Given the description of an element on the screen output the (x, y) to click on. 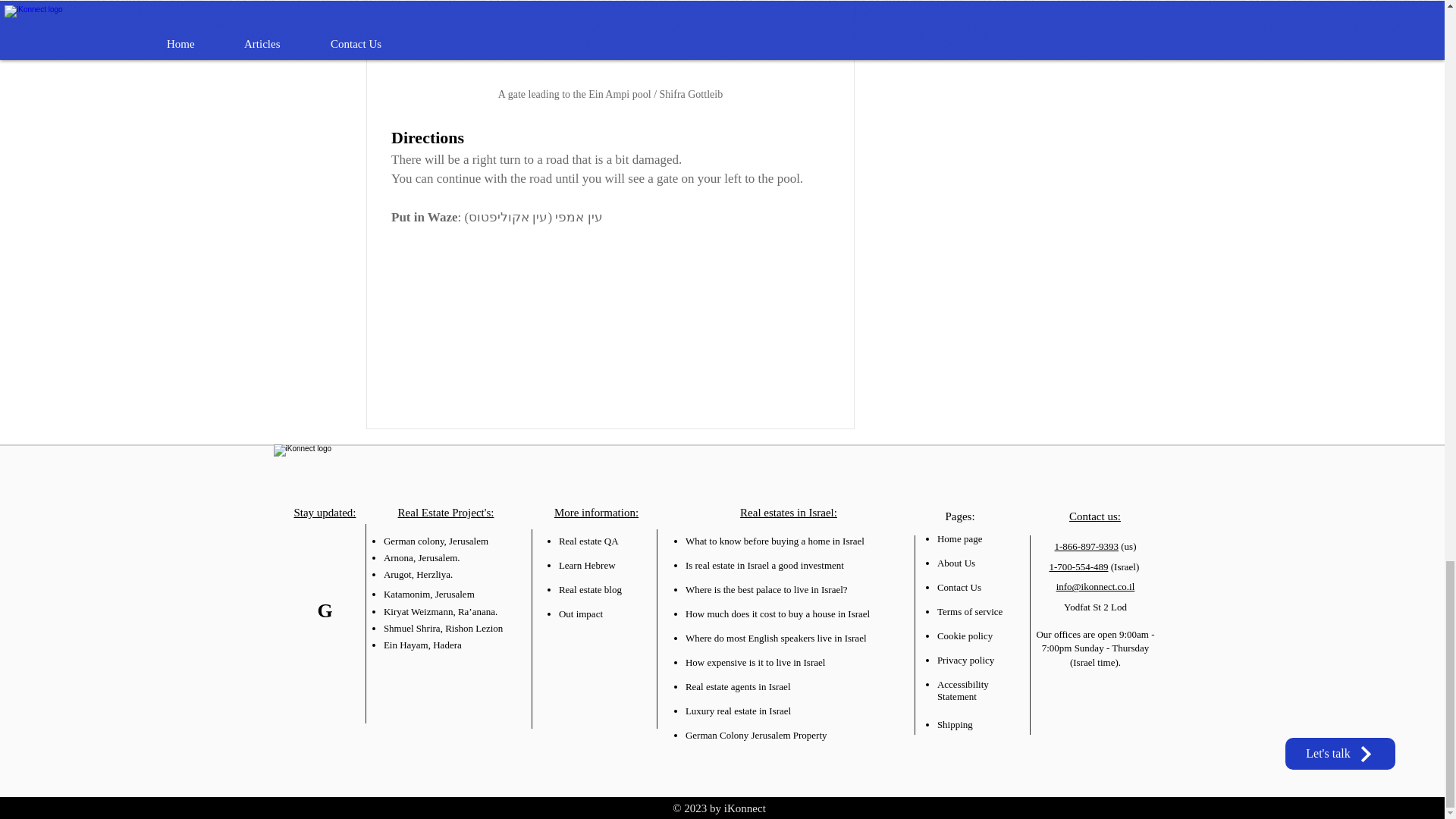
Contact us: (1094, 516)
German colony, Jerusalem (435, 541)
Is real estate in Israel a good investment (764, 564)
Real estate agents in Israel (737, 686)
Luxury real estate in Israel (737, 710)
Home page (959, 538)
Katamonim, Jerusalem (429, 593)
Arugot, Herzliya. (418, 573)
Contact Us (959, 586)
How expensive is it to live in Israel (755, 662)
